Given the description of an element on the screen output the (x, y) to click on. 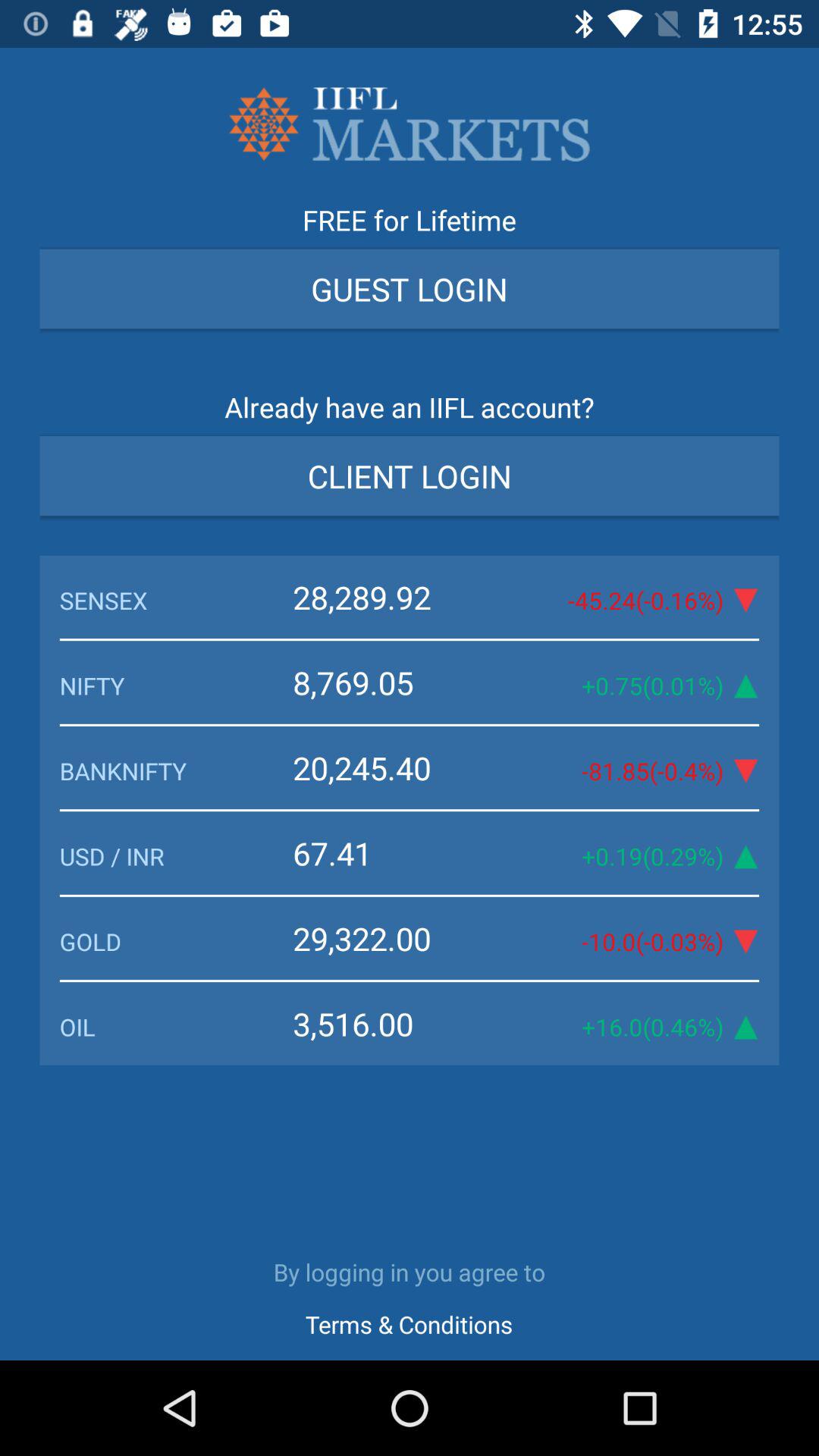
turn on the item above the already have an icon (409, 288)
